Given the description of an element on the screen output the (x, y) to click on. 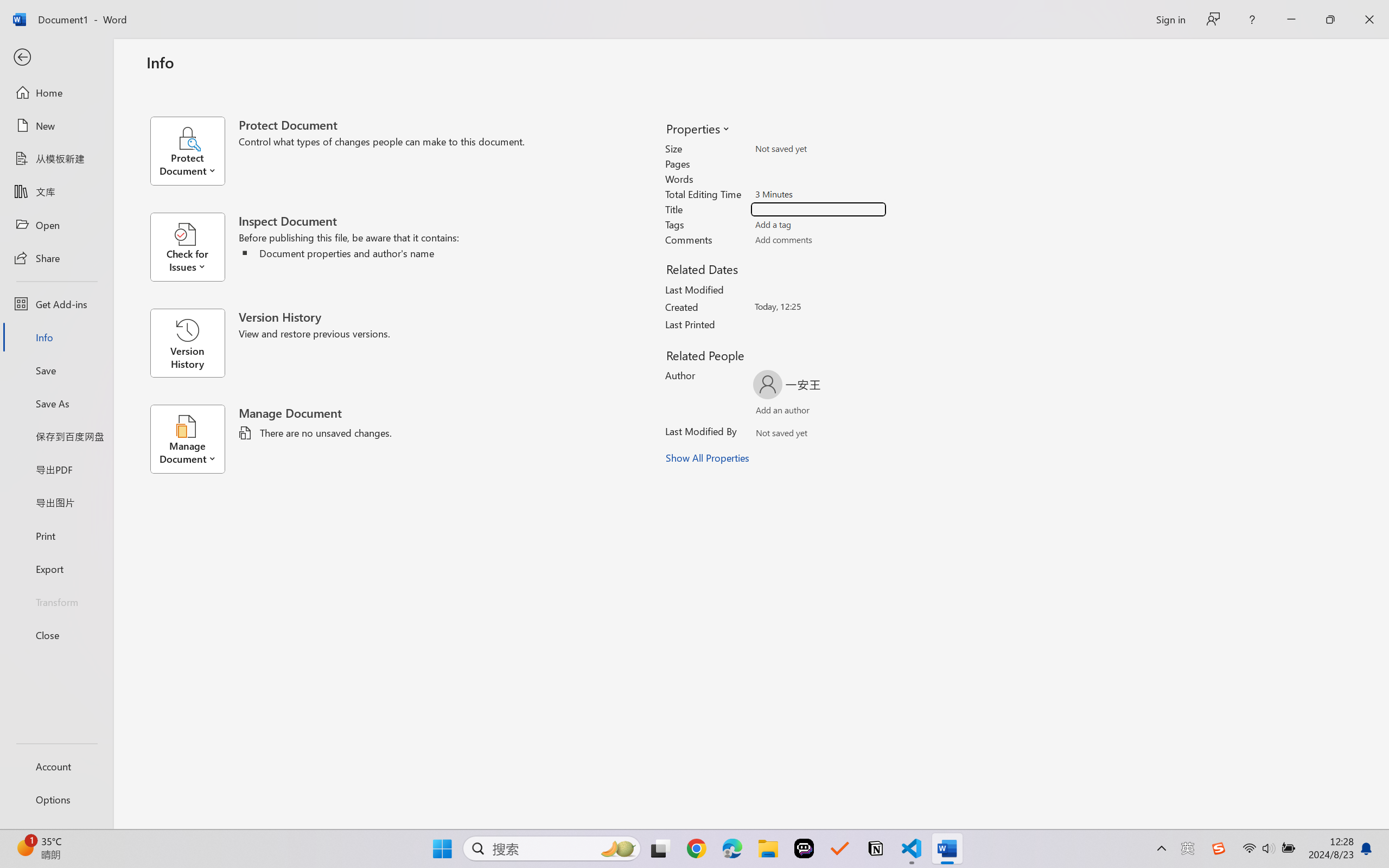
General Service Terms keyboard_arrow_down (689, 465)
February 21, 2024 (649, 807)
October 11, 2023 (774, 832)
Google Translate (531, 12)
Install (742, 135)
October 12, 2023 (682, 832)
November 20, 2023 (488, 832)
English (1228, 71)
Resources (287, 71)
Back to Google Cloud Terms Directory (519, 135)
